Given the description of an element on the screen output the (x, y) to click on. 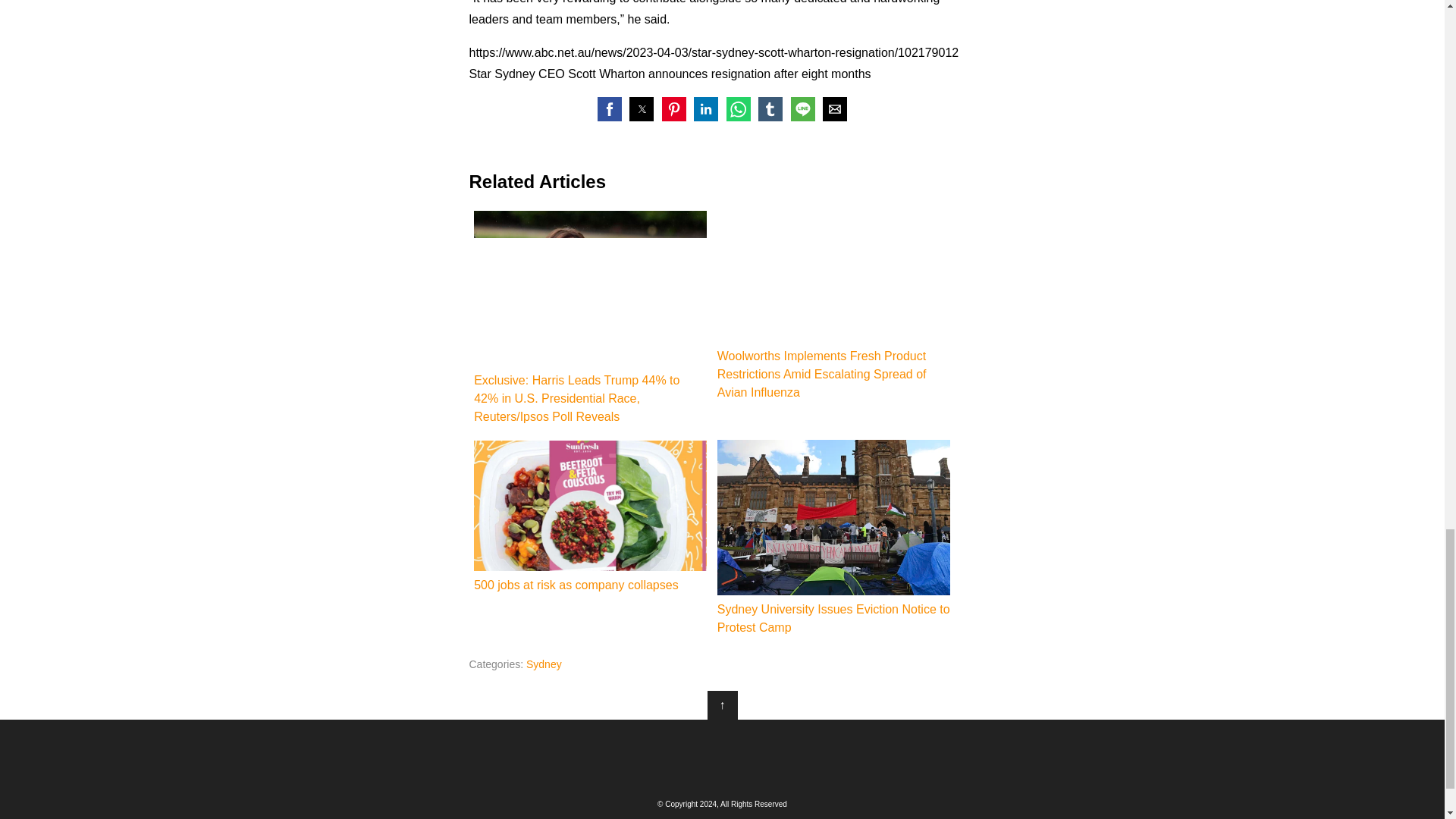
Sydney University Issues Eviction Notice to Protest Camp (833, 538)
Sydneynewstoday.com (721, 756)
500 jobs at risk as company collapses (590, 516)
Sydney (543, 664)
Sydney University Issues Eviction Notice to Protest Camp (833, 517)
500 jobs at risk as company collapses (590, 504)
